Given the description of an element on the screen output the (x, y) to click on. 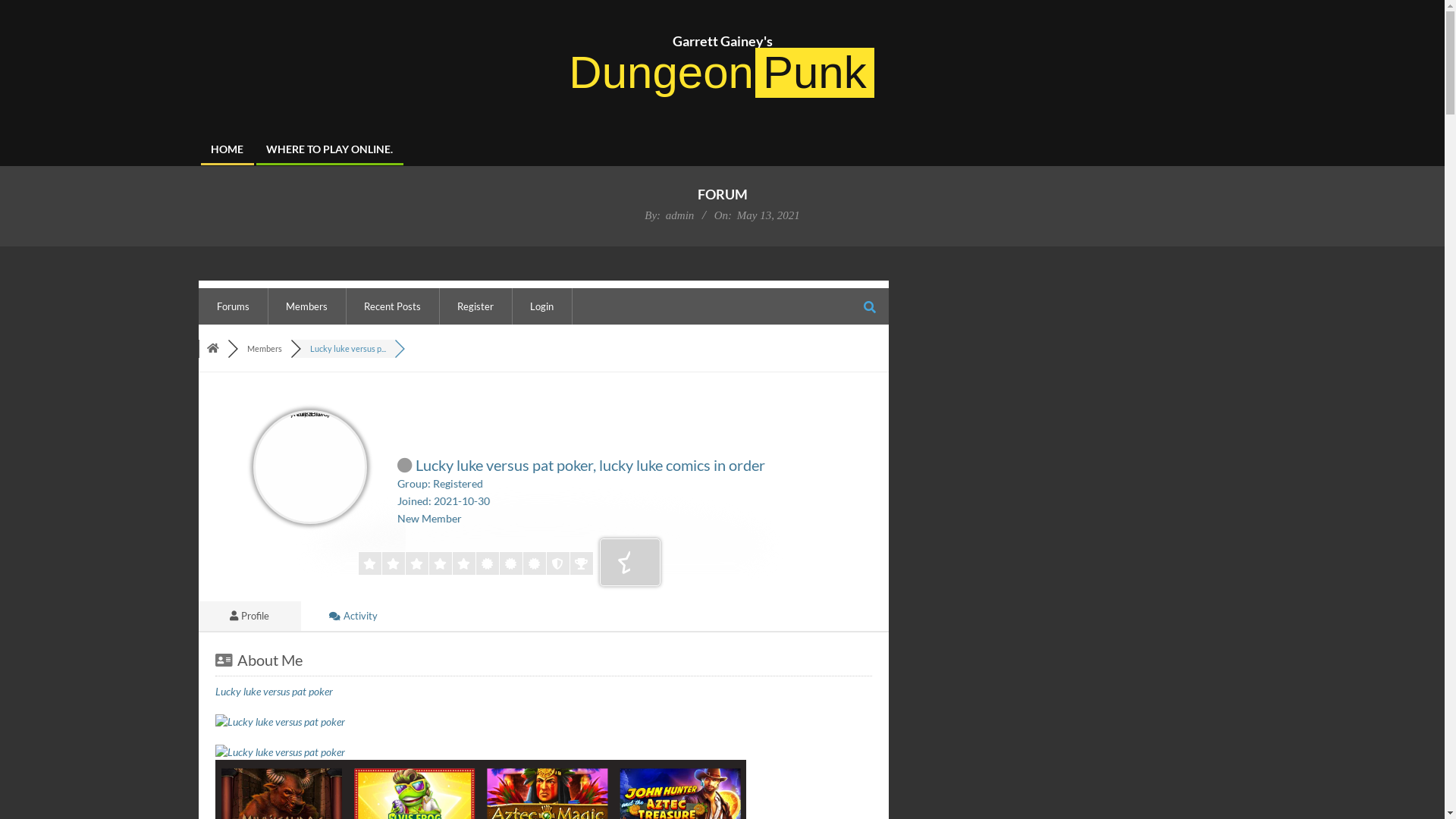
Lucky luke versus pat poker Element type: hover (480, 721)
admin Element type: text (679, 215)
Offline Element type: hover (404, 465)
Forums Element type: text (232, 306)
Lucky luke versus pat poker Element type: text (273, 690)
Profile Element type: text (250, 615)
Activity Element type: text (353, 615)
Lucky luke versus pat poker Element type: hover (480, 751)
  Element type: text (398, 349)
Forums Element type: hover (212, 348)
Members Element type: text (264, 348)
Member Rating Element type: hover (475, 563)
HOME Element type: text (226, 148)
Register Element type: text (474, 306)
Rating Badge Element type: hover (629, 562)
Login Element type: text (541, 306)
WHERE TO PLAY ONLINE. Element type: text (329, 148)
Recent Posts Element type: text (392, 306)
Garrett Gainey's
DungeonPunk Element type: text (721, 65)
Members Element type: text (305, 306)
